Given the description of an element on the screen output the (x, y) to click on. 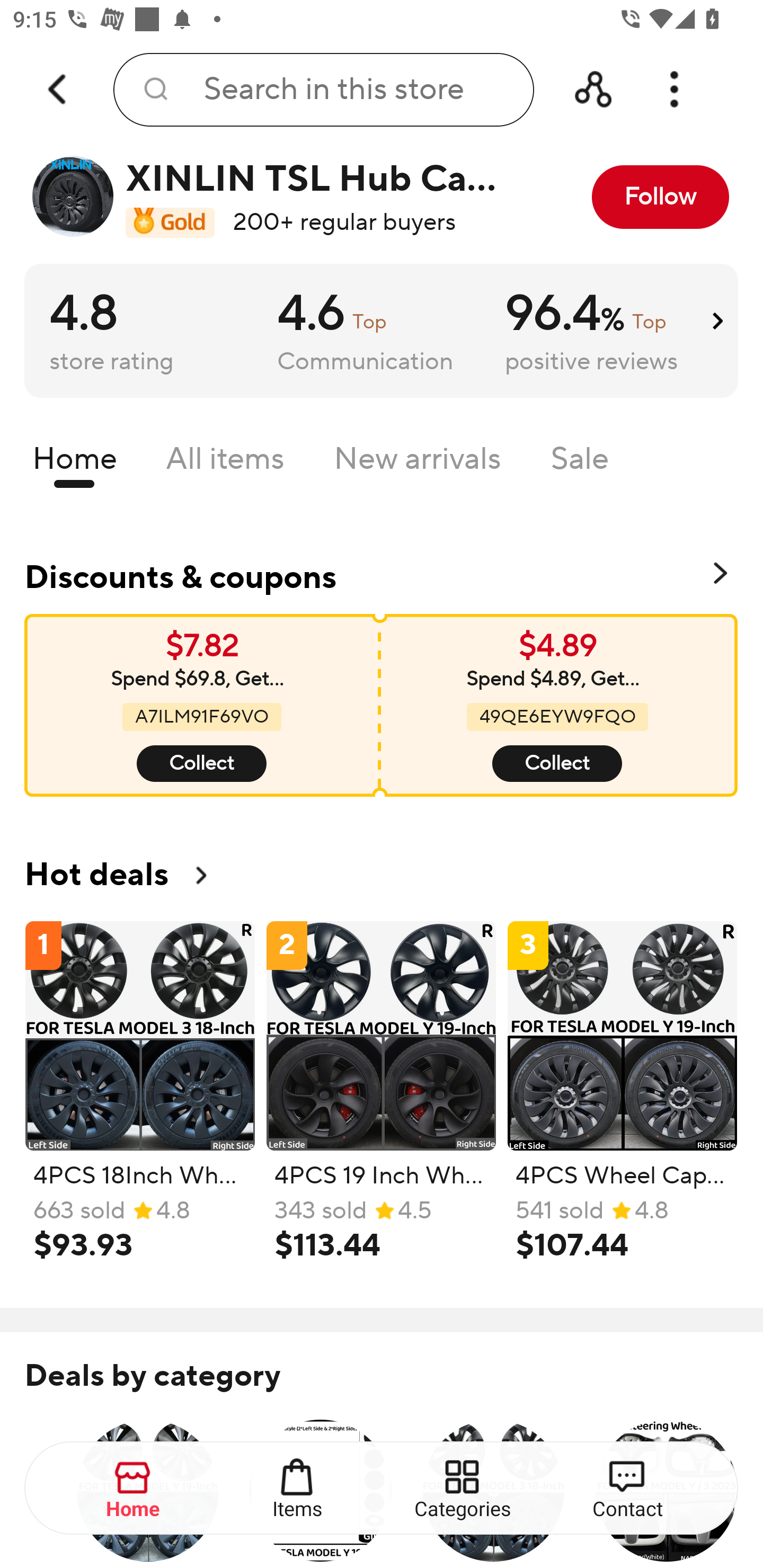
Search in this store (323, 90)
XINLIN TSL Hub Ca…  200+ regular buyers (272, 196)
Follow (660, 196)
Home (74, 463)
All items (225, 463)
New arrivals
 (418, 463)
Sale (579, 463)
Discounts & coupons (381, 573)
Collect (201, 763)
Collect (556, 763)
Hot deals (381, 875)
Home (133, 1488)
Items (297, 1488)
Categories (462, 1488)
Contact (627, 1488)
